Given the description of an element on the screen output the (x, y) to click on. 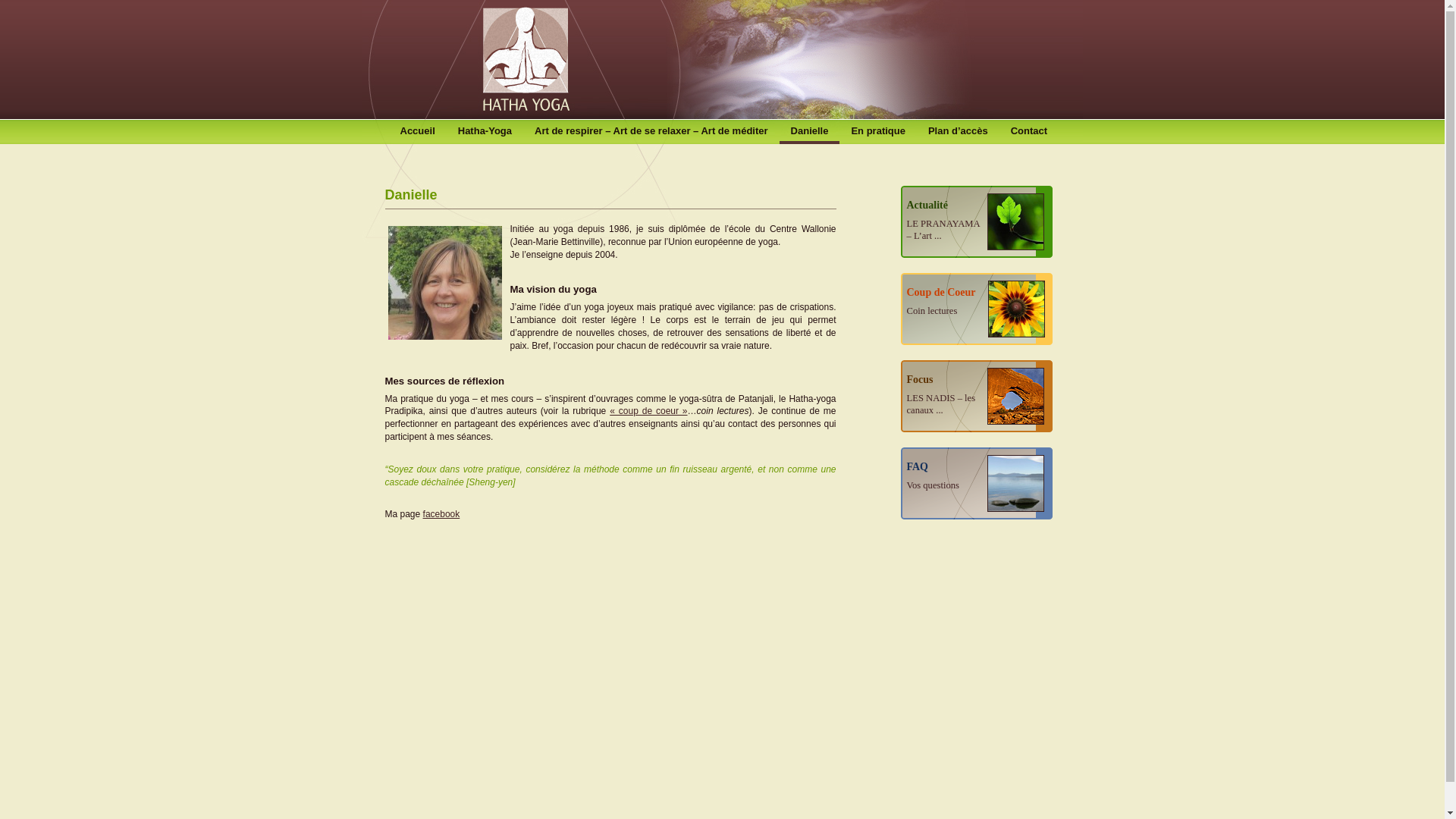
FAQ
Vos questions Element type: text (976, 483)
Contact Element type: text (1028, 131)
danielle Element type: hover (445, 282)
En pratique Element type: text (877, 131)
Danielle Element type: text (610, 195)
Accueil Element type: text (416, 131)
Coup de Coeur
Coin lectures Element type: text (976, 309)
Danielle Element type: text (809, 131)
Hatha-Yoga Element type: text (484, 131)
facebook Element type: text (441, 513)
